Given the description of an element on the screen output the (x, y) to click on. 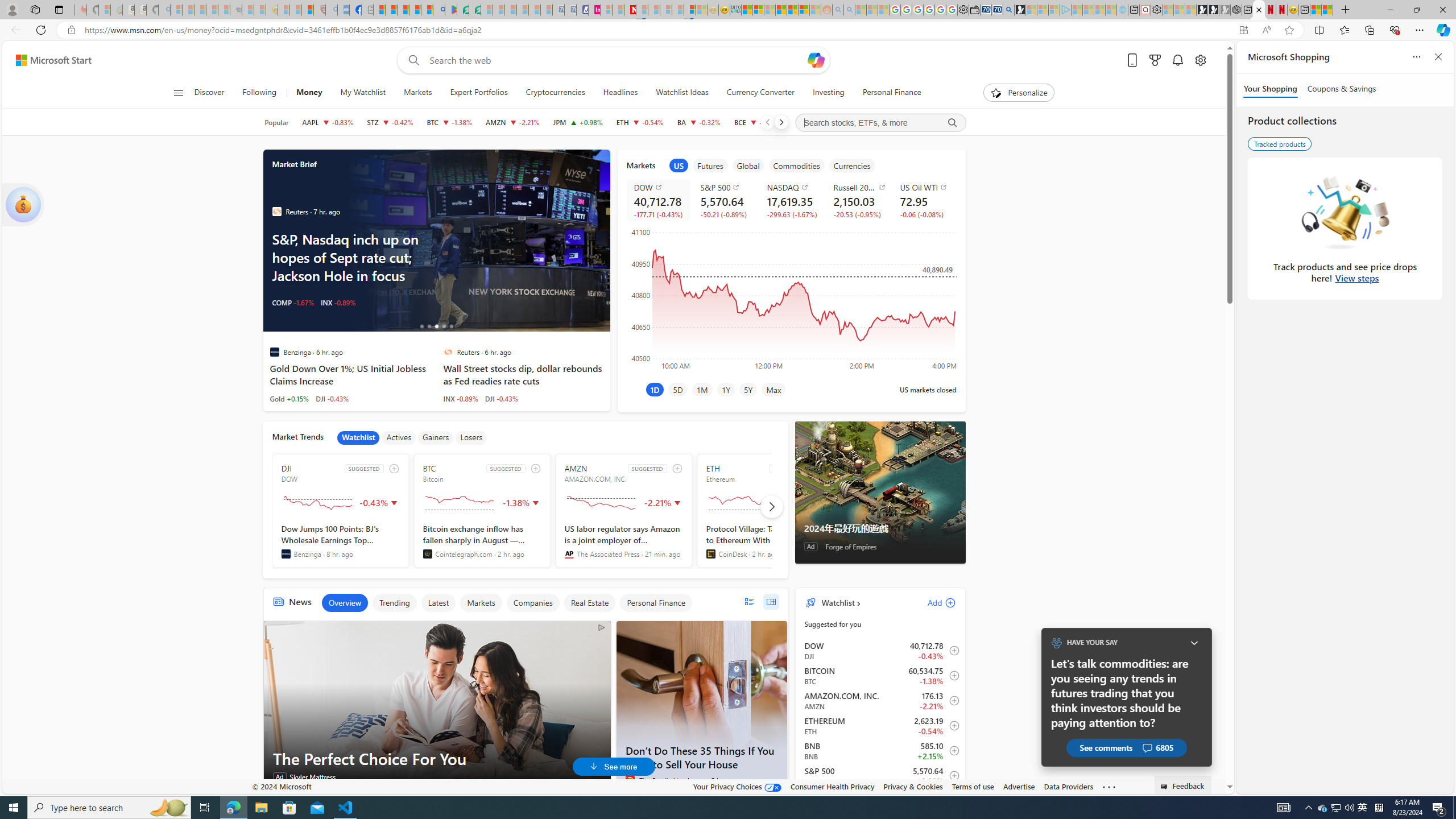
Russell 2000 RUT decrease 2,150.03 -20.53 -0.95% (857, 200)
Currency Converter (760, 92)
item2 (710, 164)
Add to Watchlist (950, 775)
US Oil WTI (926, 187)
Russell 2000 (859, 187)
NASDAQ COMP decrease 17,619.35 -299.63 -1.67% (791, 200)
